Given the description of an element on the screen output the (x, y) to click on. 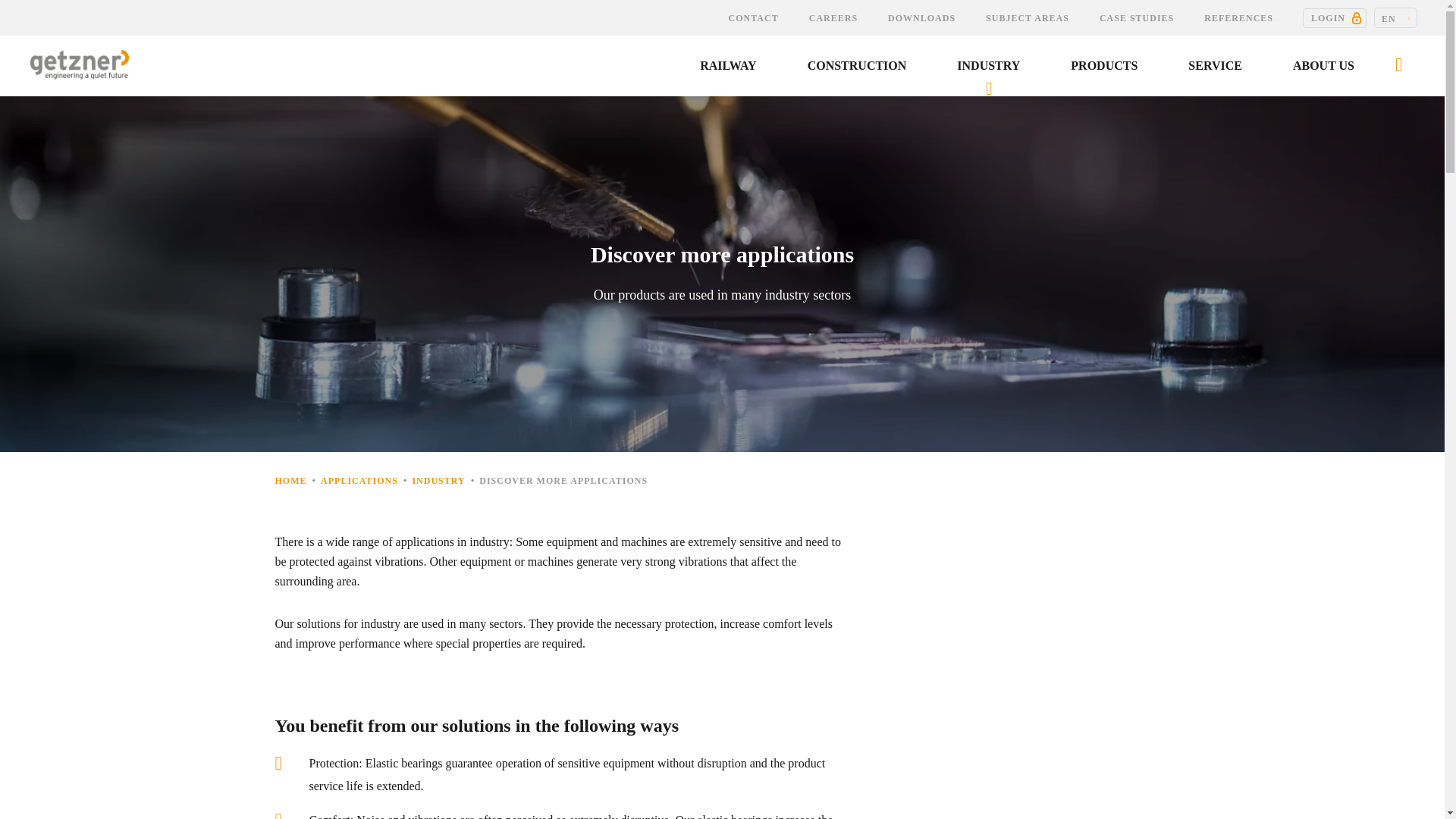
REFERENCES (1238, 18)
SUBJECT AREAS (1027, 18)
CONSTRUCTION (858, 66)
CAREERS (832, 18)
SERVICE (1215, 66)
INDUSTRY (988, 66)
CONTACT (753, 18)
LOGIN (1335, 17)
RAILWAY (728, 66)
PRODUCTS (1104, 66)
DOWNLOADS (921, 18)
ABOUT US (1324, 66)
CASE STUDIES (1136, 18)
